Given the description of an element on the screen output the (x, y) to click on. 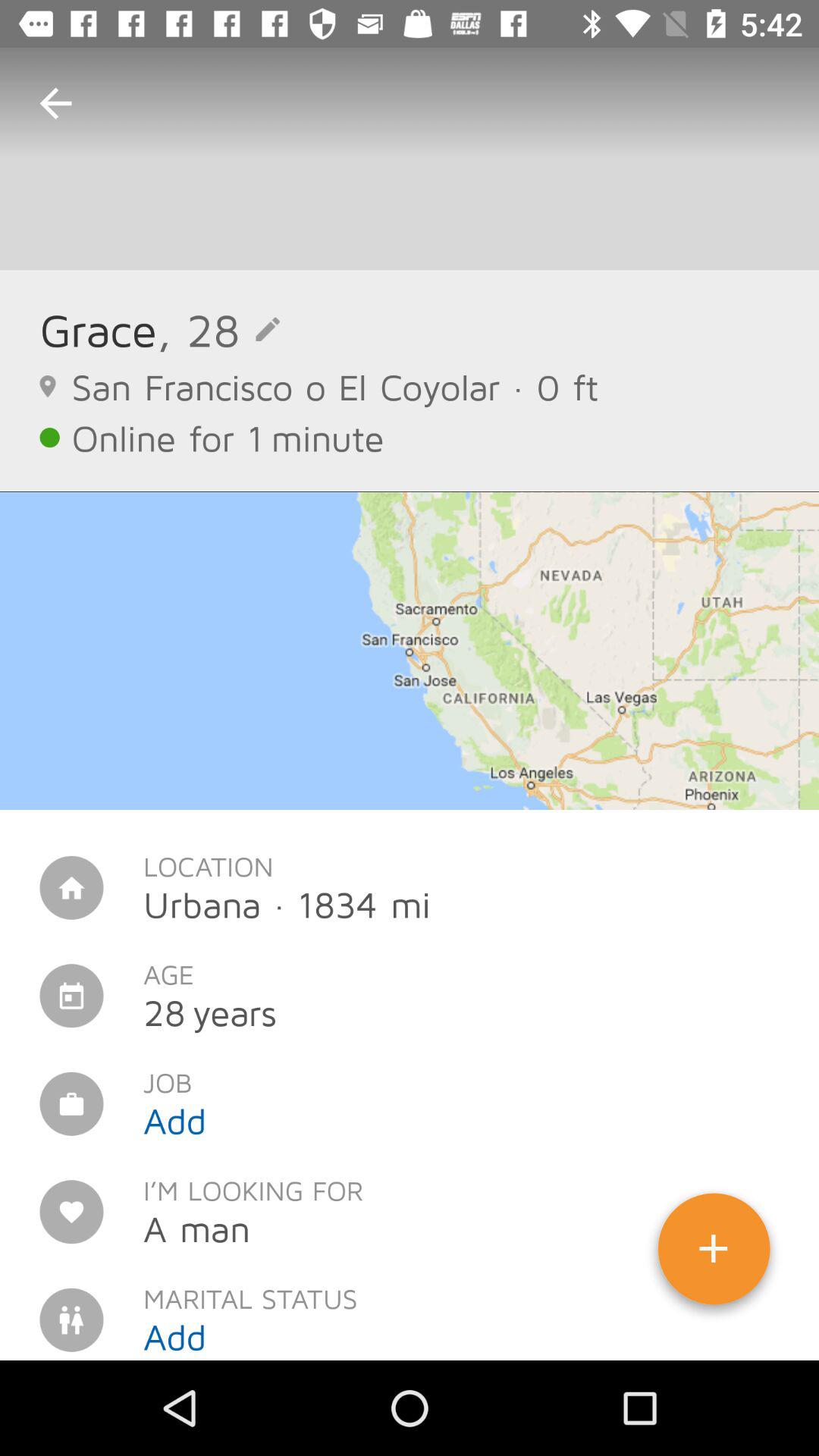
turn on the item at the bottom right corner (713, 1254)
